Given the description of an element on the screen output the (x, y) to click on. 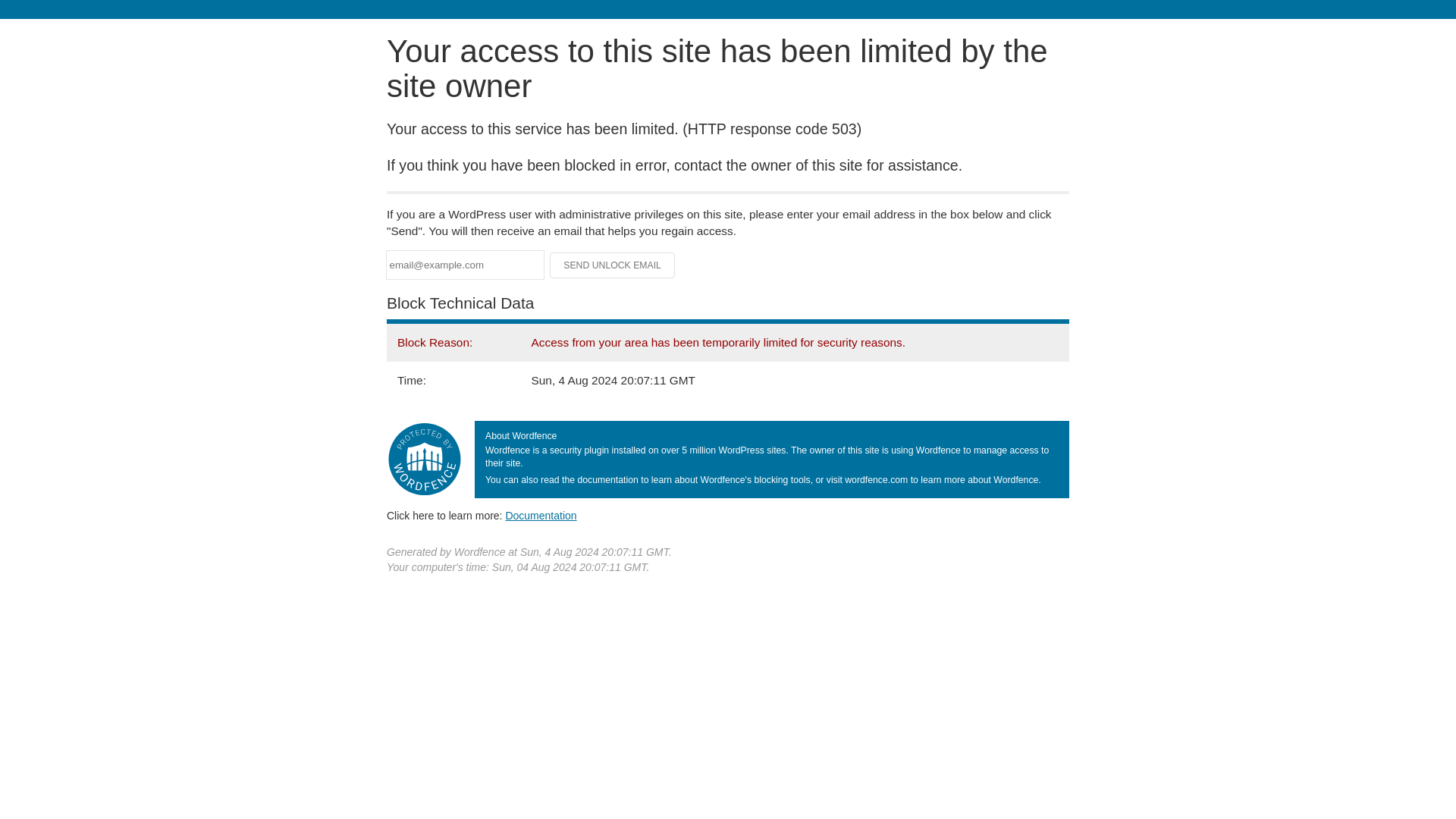
Send Unlock Email (612, 265)
Documentation (540, 515)
Send Unlock Email (612, 265)
